Given the description of an element on the screen output the (x, y) to click on. 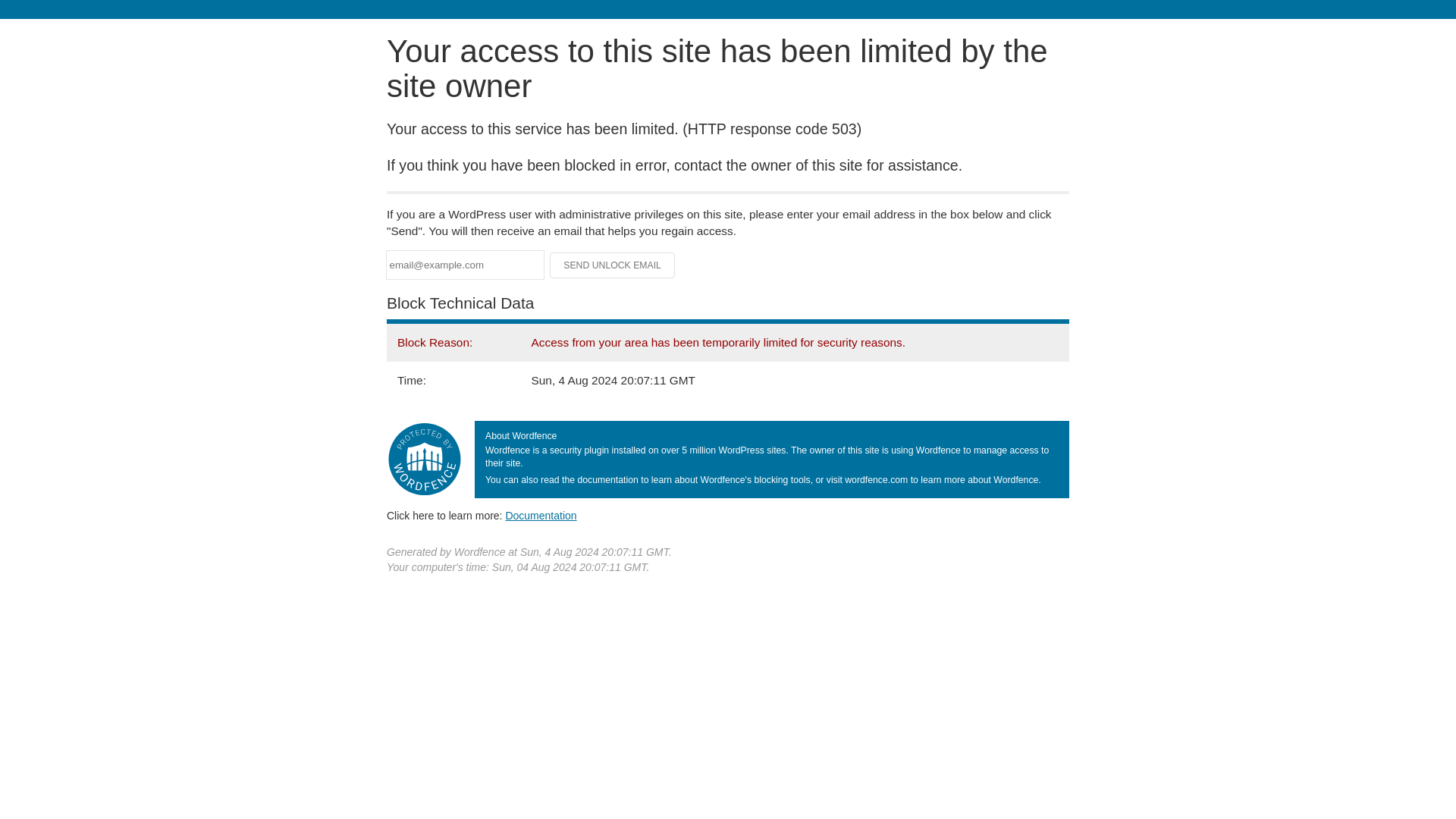
Send Unlock Email (612, 265)
Documentation (540, 515)
Send Unlock Email (612, 265)
